Given the description of an element on the screen output the (x, y) to click on. 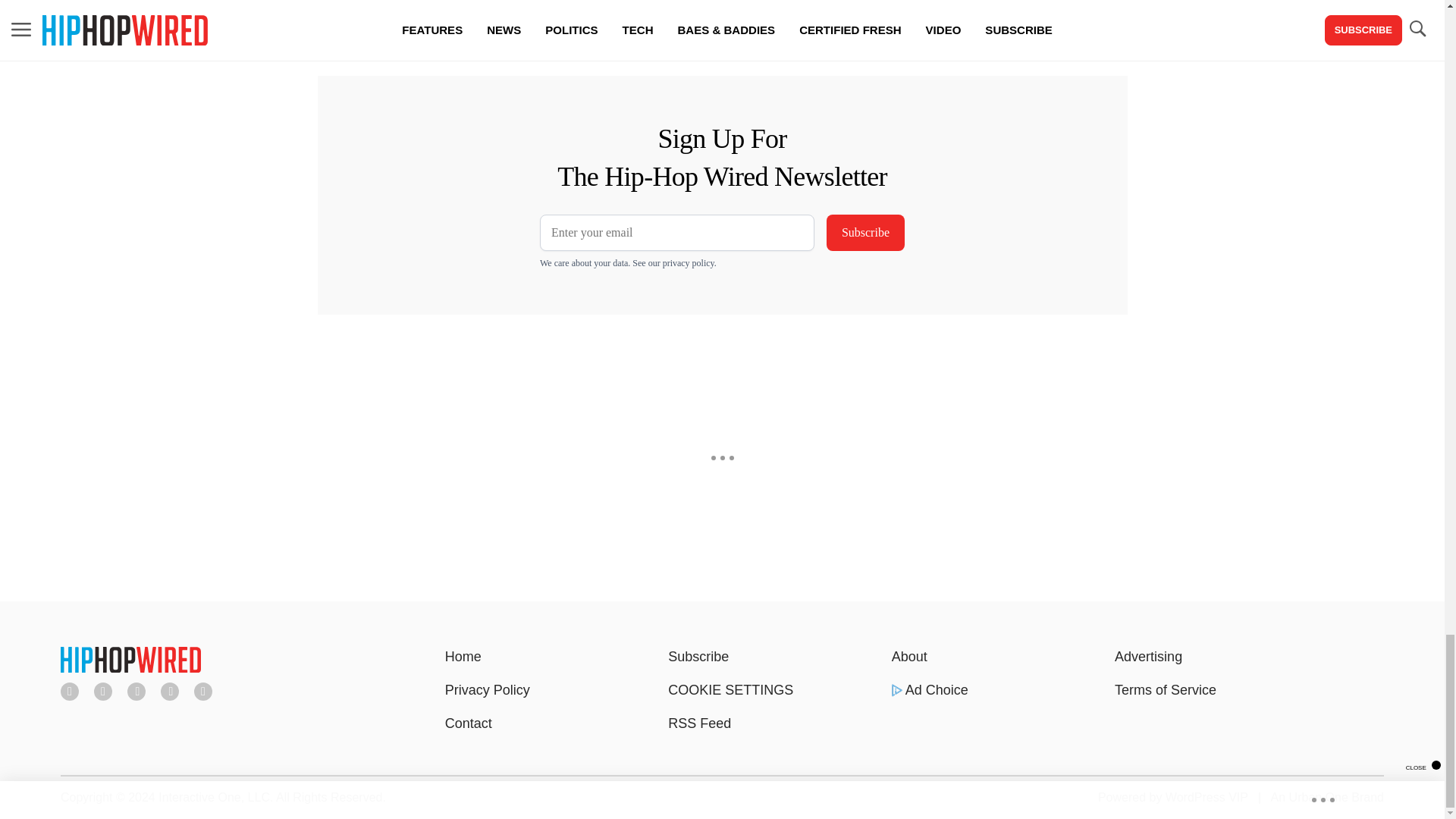
privacy policy (688, 262)
Subscribe (865, 232)
